Given the description of an element on the screen output the (x, y) to click on. 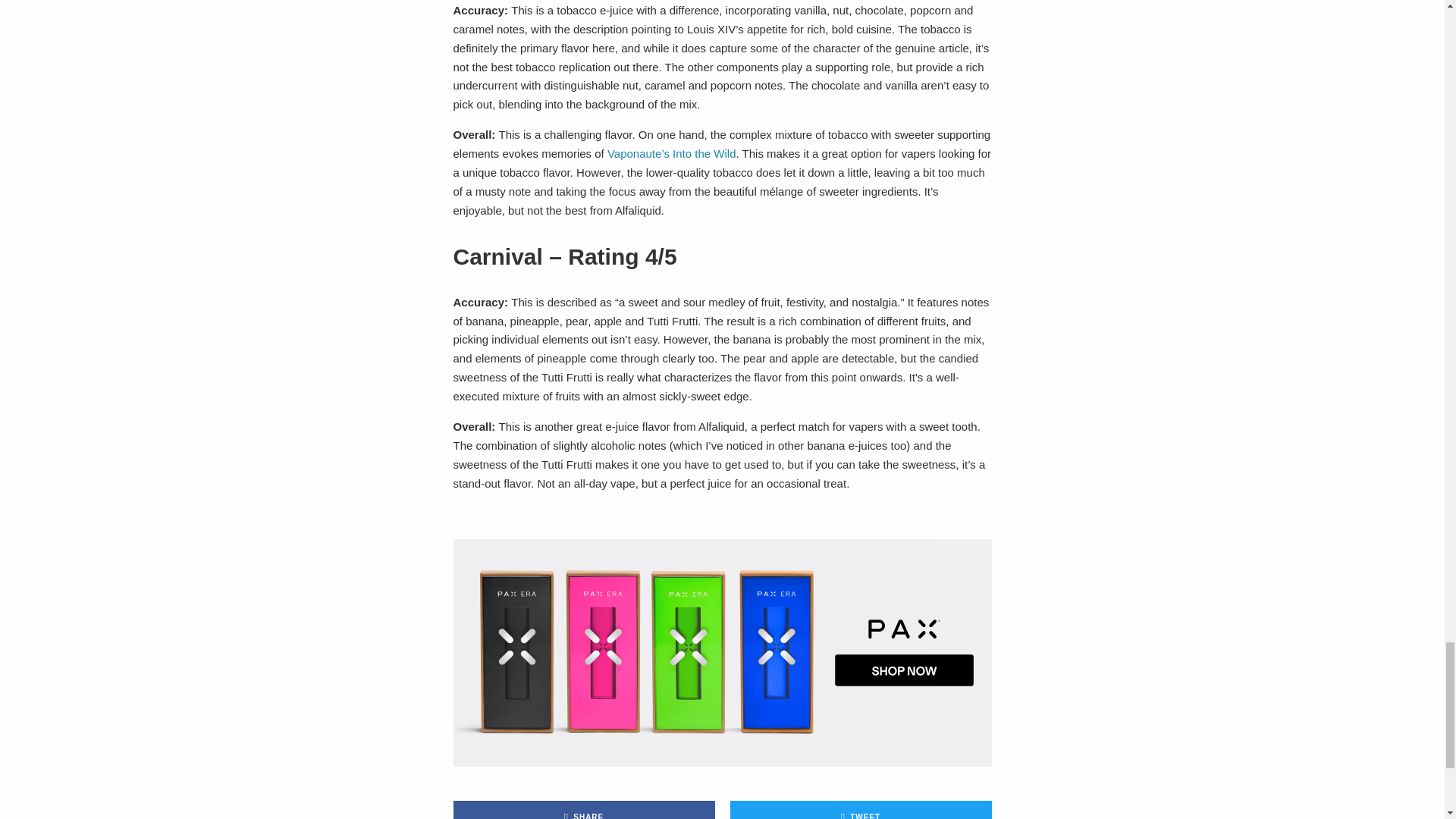
SHARE (583, 809)
TWEET (860, 809)
